Given the description of an element on the screen output the (x, y) to click on. 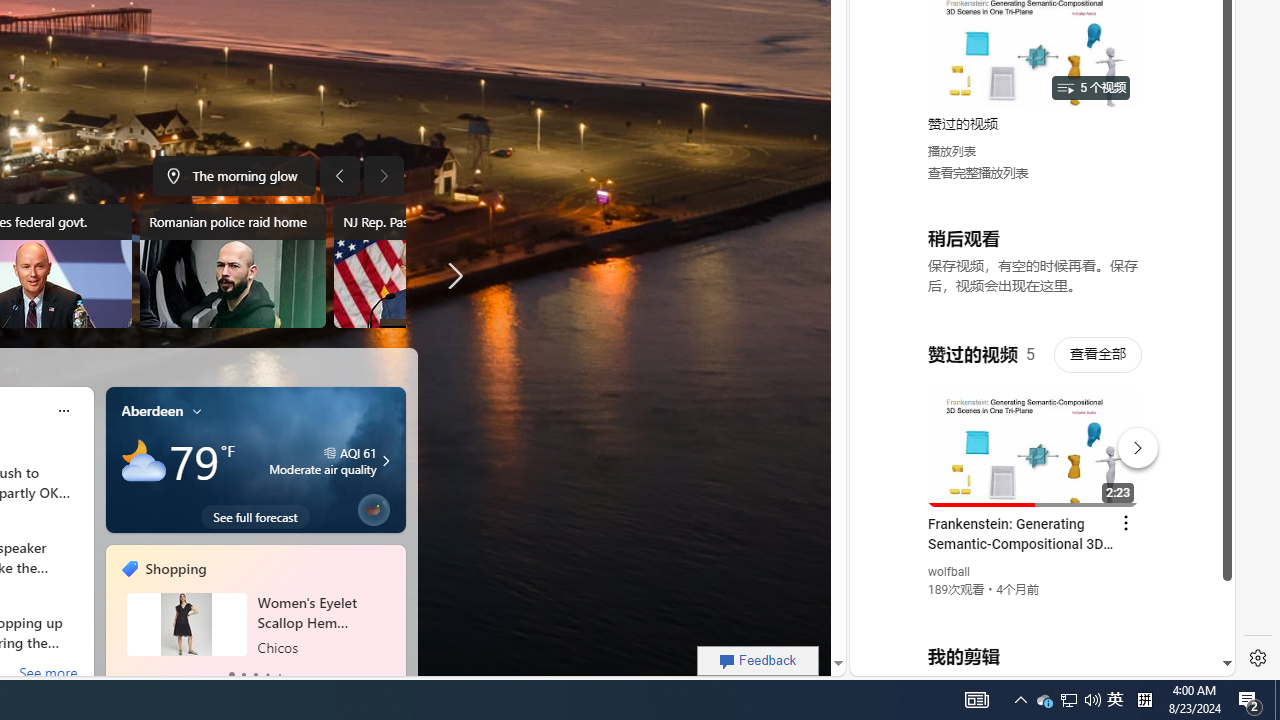
YouTube (1034, 432)
Next image (383, 175)
Mostly cloudy (143, 461)
YouTube - YouTube (1034, 266)
Class: eplant-img (372, 506)
See more (48, 674)
US[ju] (917, 660)
NJ Rep. Pascrell dies (425, 265)
Class: weather-arrow-glyph (385, 461)
Previous image (338, 175)
Global web icon (888, 432)
tab-0 (231, 674)
